Given the description of an element on the screen output the (x, y) to click on. 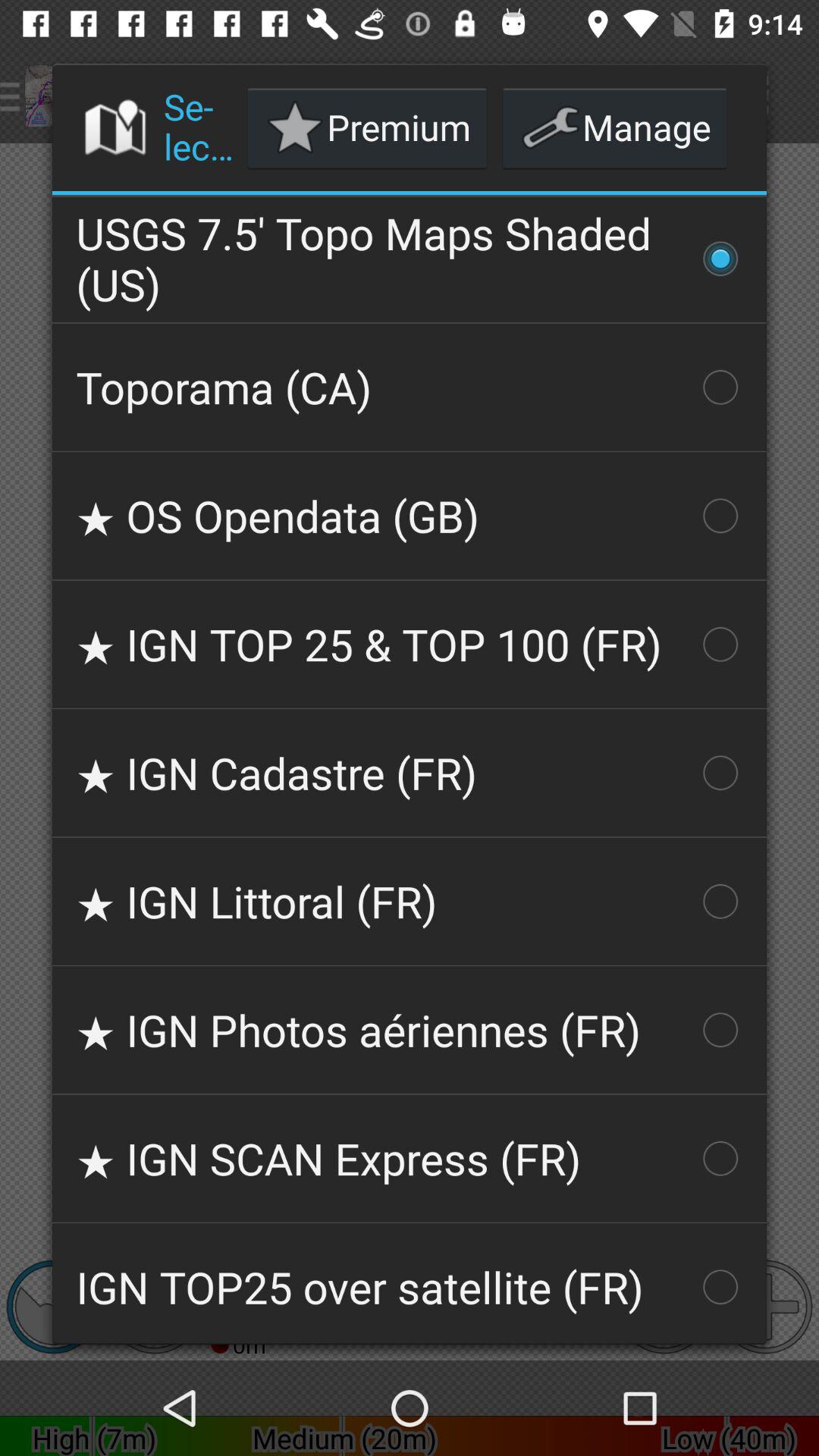
launch item to the left of manage item (366, 127)
